Given the description of an element on the screen output the (x, y) to click on. 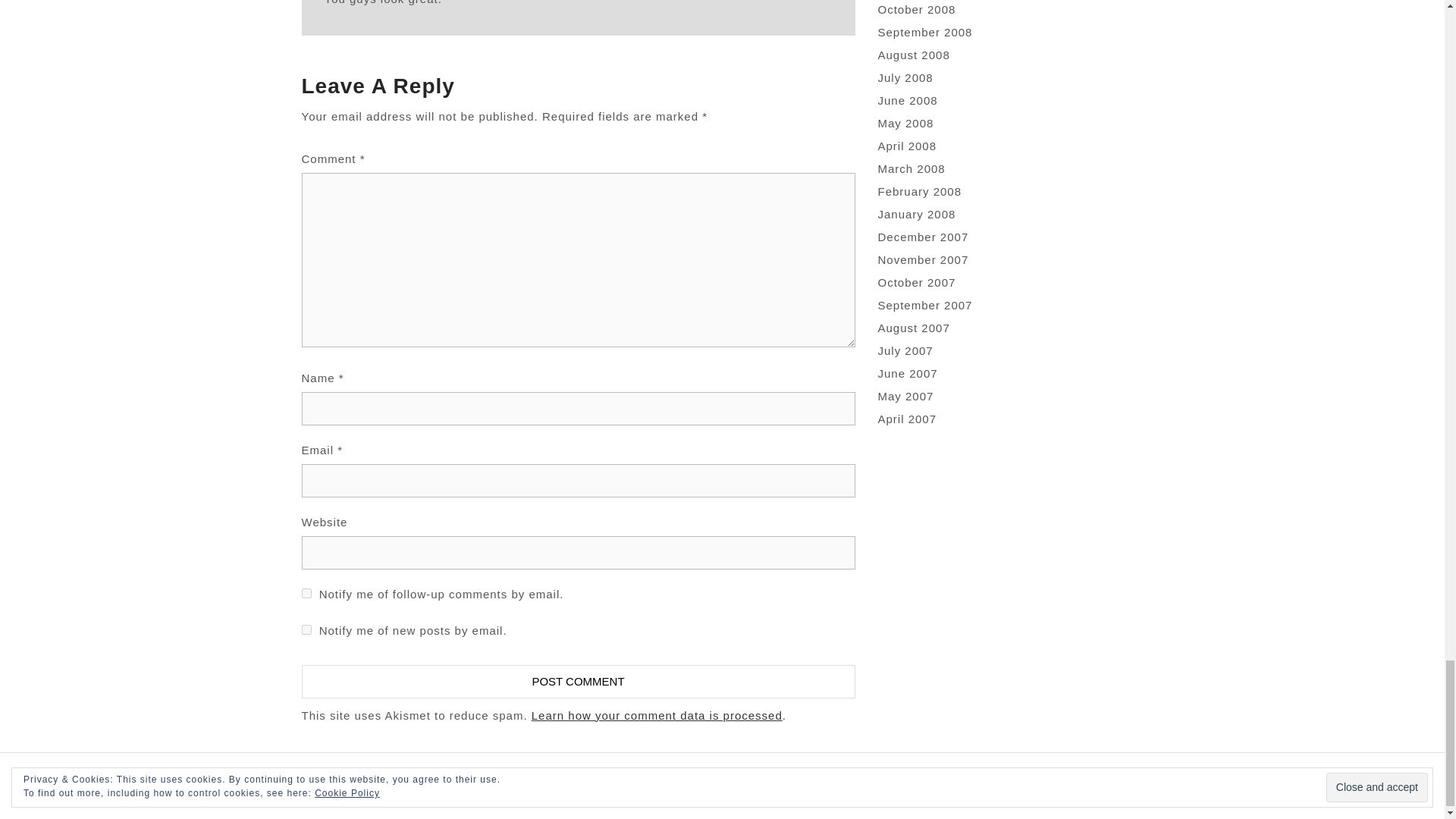
subscribe (306, 629)
subscribe (306, 593)
Post Comment (578, 681)
